Given the description of an element on the screen output the (x, y) to click on. 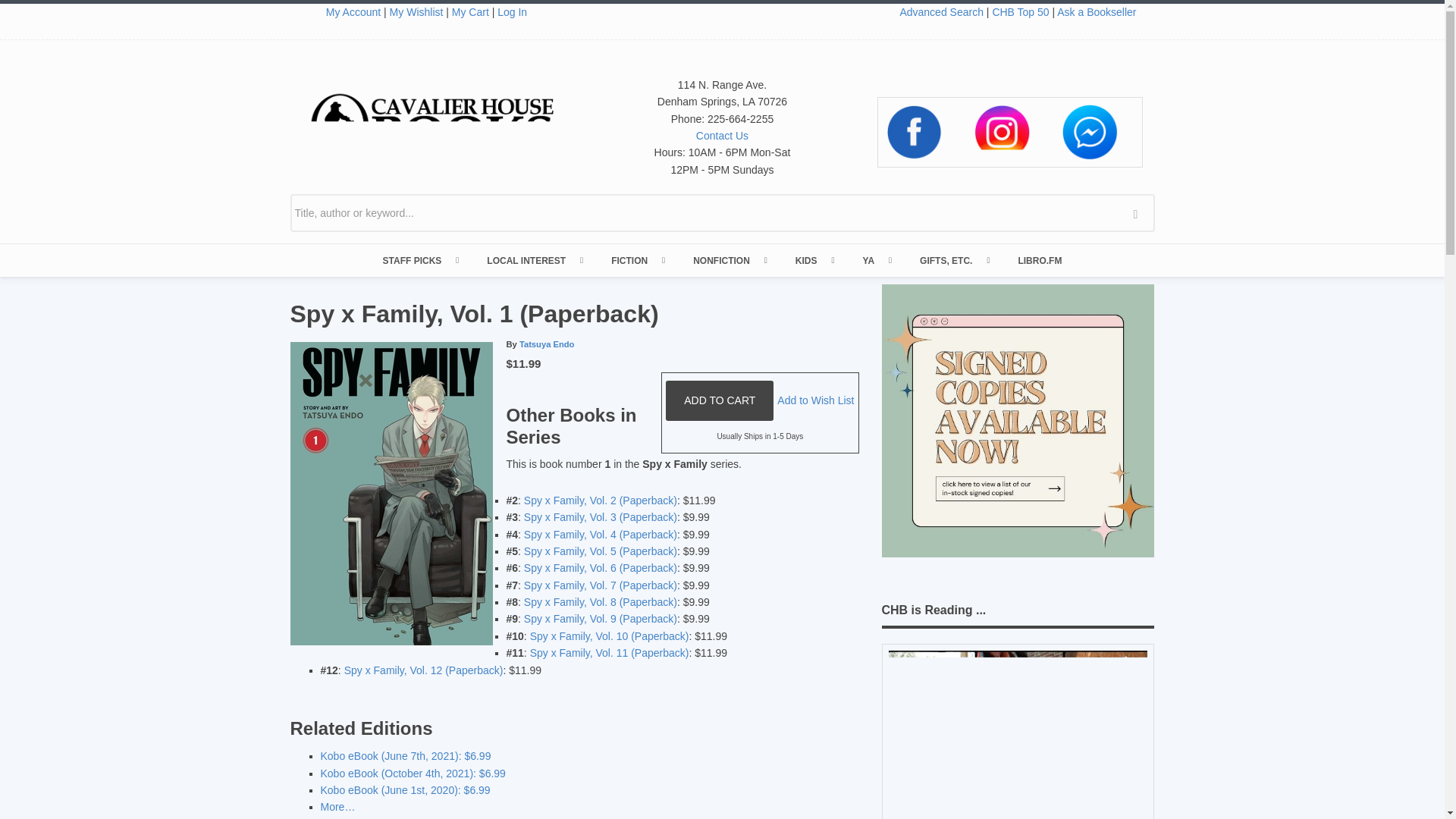
Advanced Search (941, 11)
NONFICTION (729, 260)
My Wishlist (417, 11)
FICTION (636, 260)
My Cart (470, 11)
LOCAL INTEREST (533, 260)
CHB Top 50 (1019, 11)
YA (875, 260)
KIDS (813, 260)
Title, author or keyword... (721, 212)
STAFF PICKS (419, 260)
Log In (512, 11)
Add to Cart (719, 400)
My Account (353, 11)
